Given the description of an element on the screen output the (x, y) to click on. 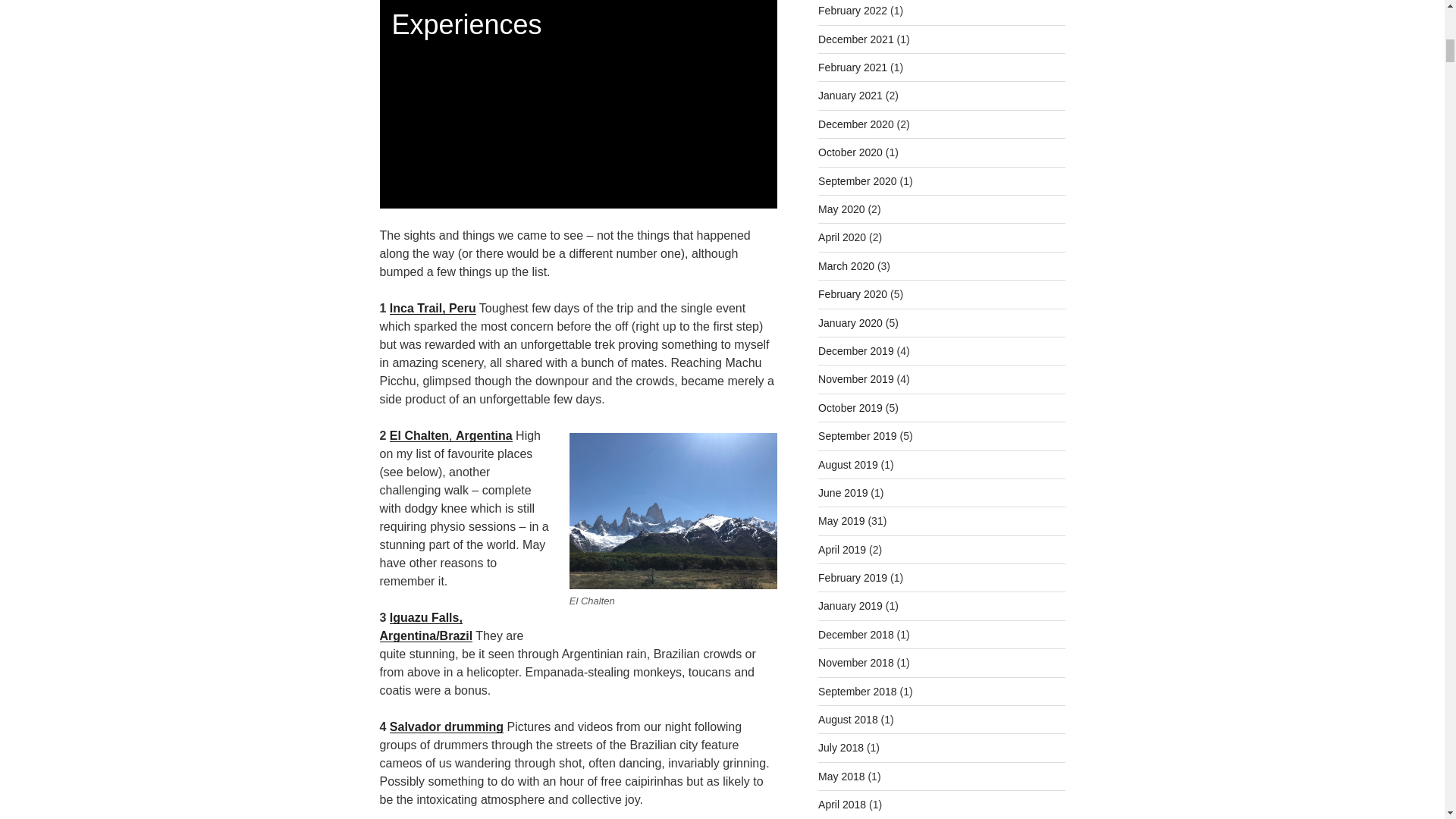
We Got The Beat (446, 726)
El Chalten, Argentina (451, 435)
Inca Trail, Peru (433, 308)
Bite Christmas (424, 626)
Salvador drumming (446, 726)
My Favourite Dress (451, 435)
The Inca Trail (433, 308)
